Given the description of an element on the screen output the (x, y) to click on. 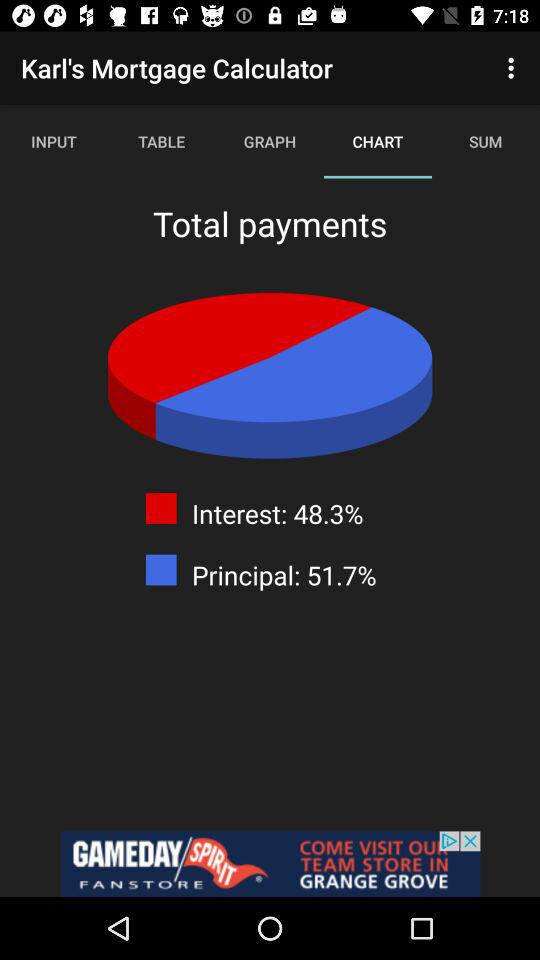
advertisements are displayed (270, 864)
